Given the description of an element on the screen output the (x, y) to click on. 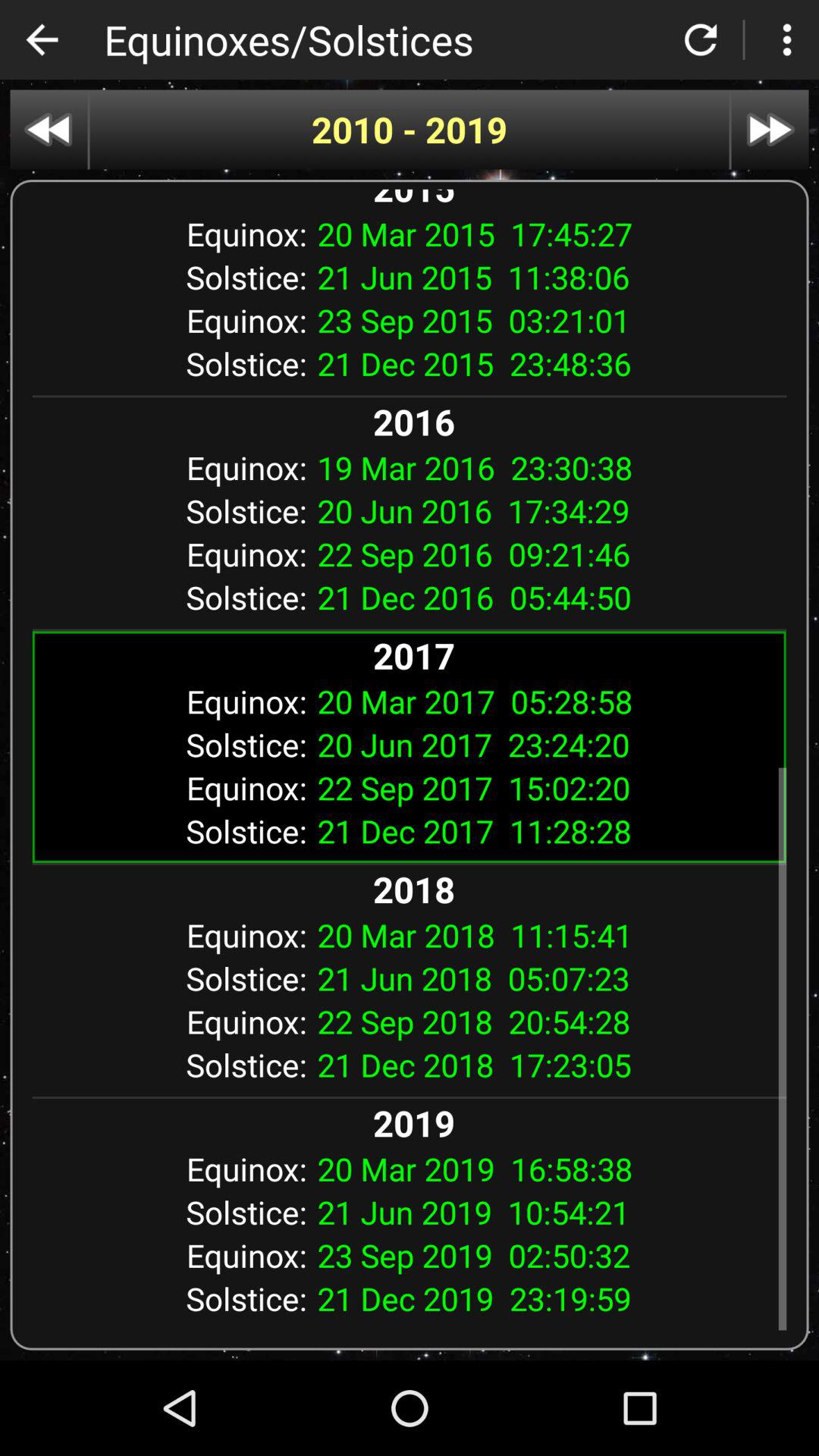
show more options (787, 39)
